Given the description of an element on the screen output the (x, y) to click on. 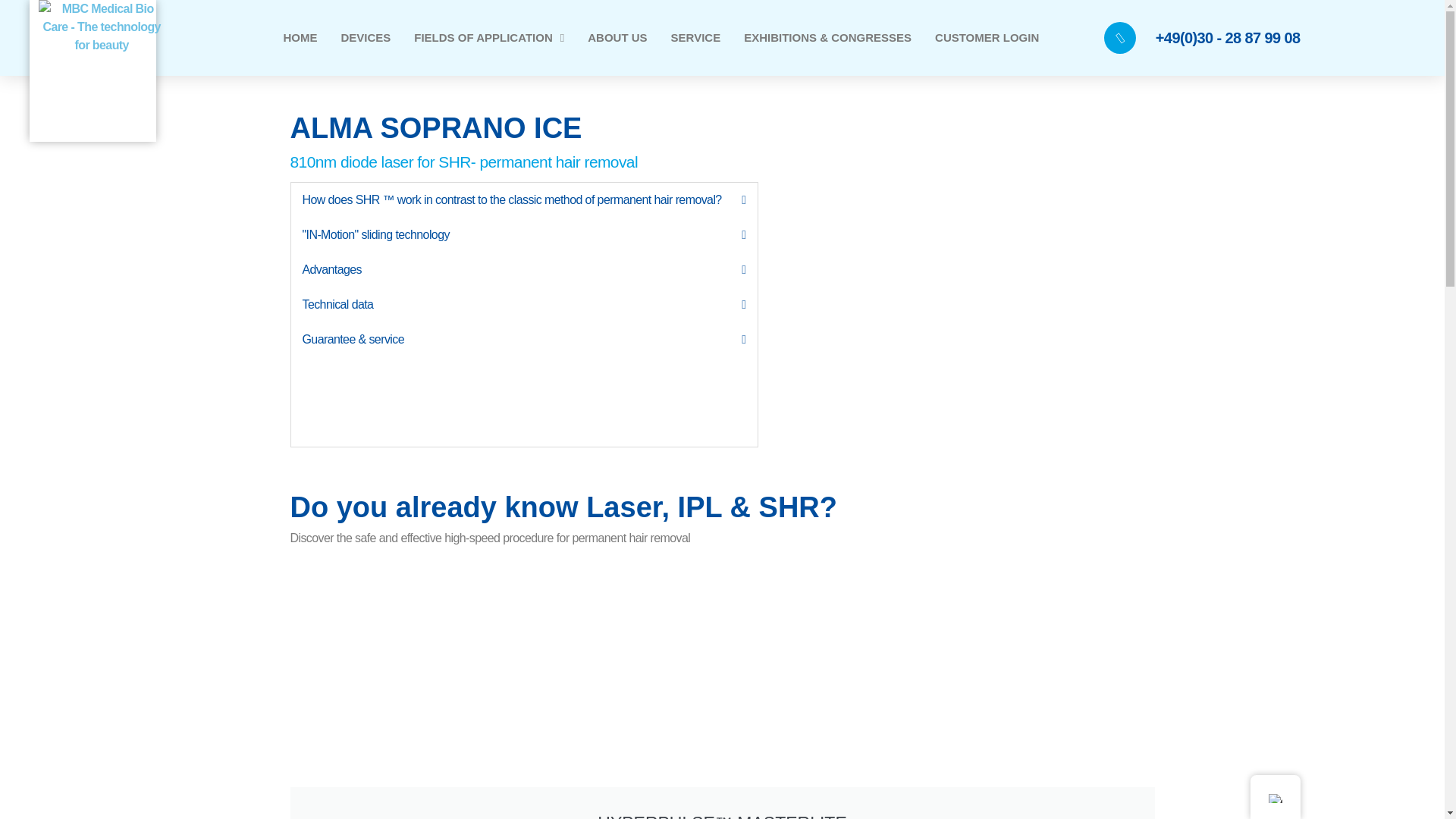
SERVICE (696, 37)
ABOUT US (617, 37)
DEVICES (364, 37)
English (1274, 798)
CUSTOMER LOGIN (987, 37)
HOME (299, 37)
FIELDS OF APPLICATION (488, 37)
